Given the description of an element on the screen output the (x, y) to click on. 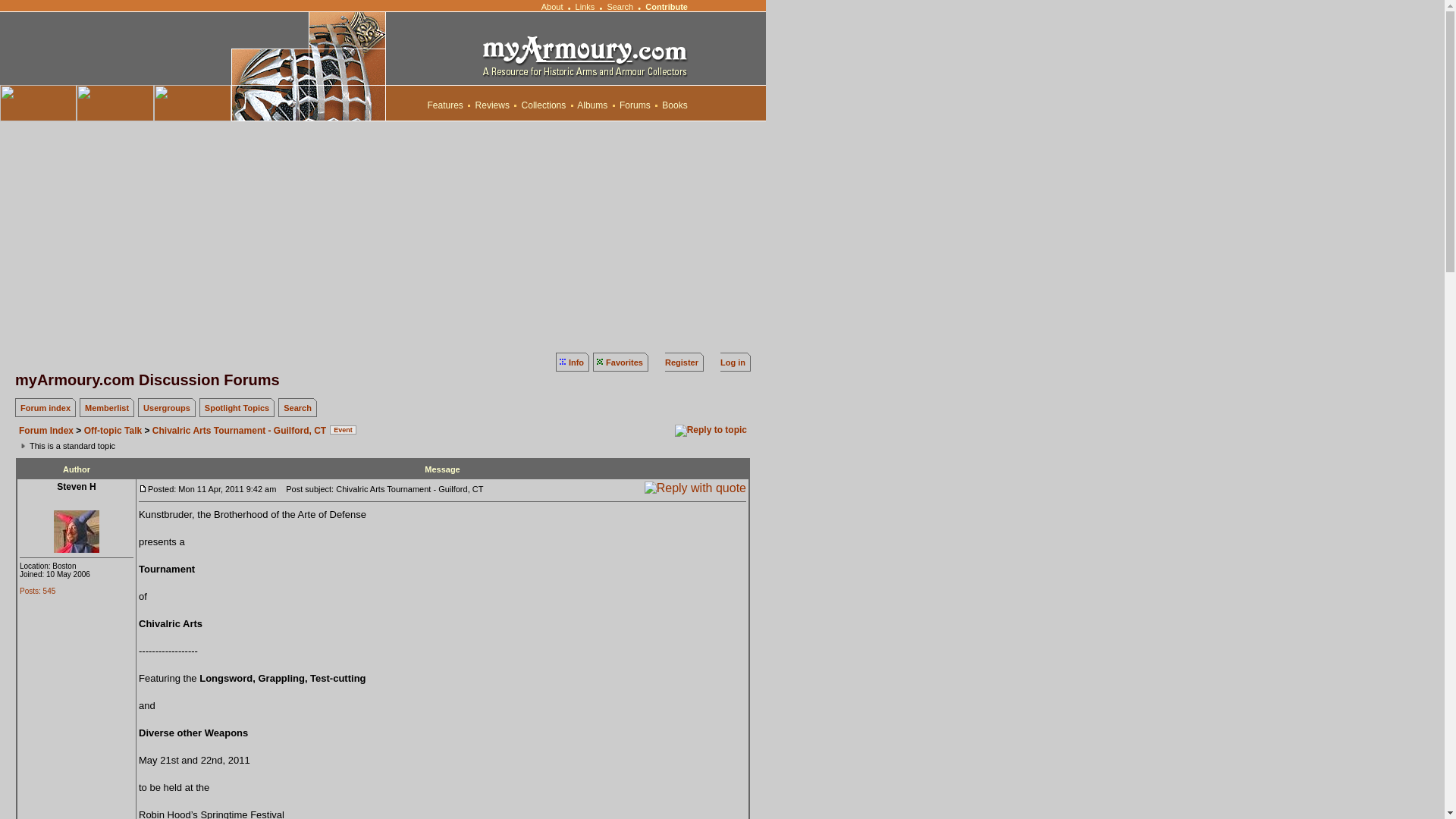
Memberlist (106, 407)
Info (576, 361)
Usergroups (166, 407)
Register (681, 361)
Chivalric Arts Tournament - Guilford, CT (239, 430)
Reply with quote (695, 488)
Go to the forum index (44, 407)
 Books  (674, 104)
Spotlight Topics (237, 407)
Search the forums (297, 407)
